Given the description of an element on the screen output the (x, y) to click on. 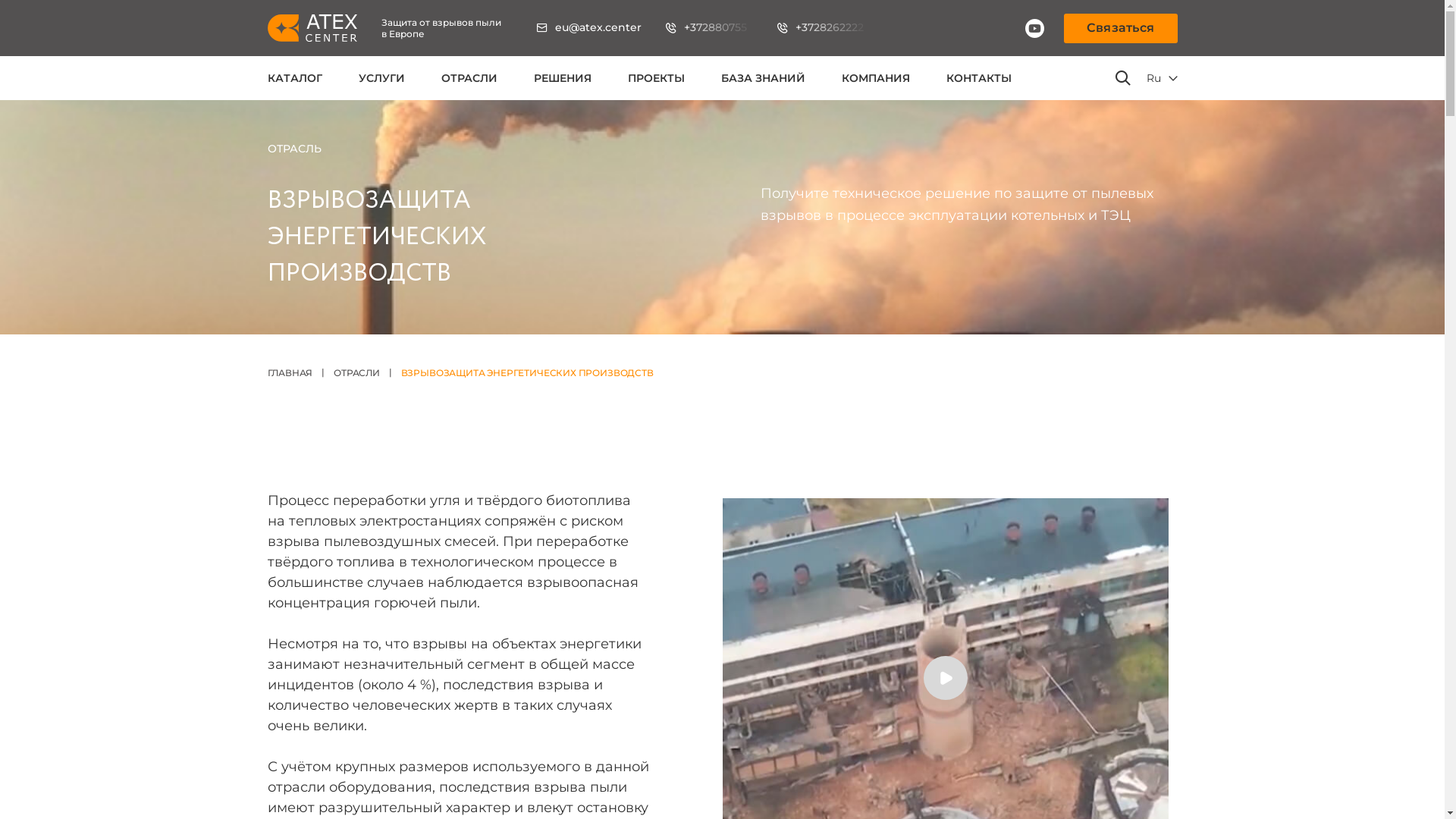
+372880755 Element type: text (709, 27)
eu@atex.center Element type: text (588, 27)
+3728262222 Element type: text (822, 27)
